Given the description of an element on the screen output the (x, y) to click on. 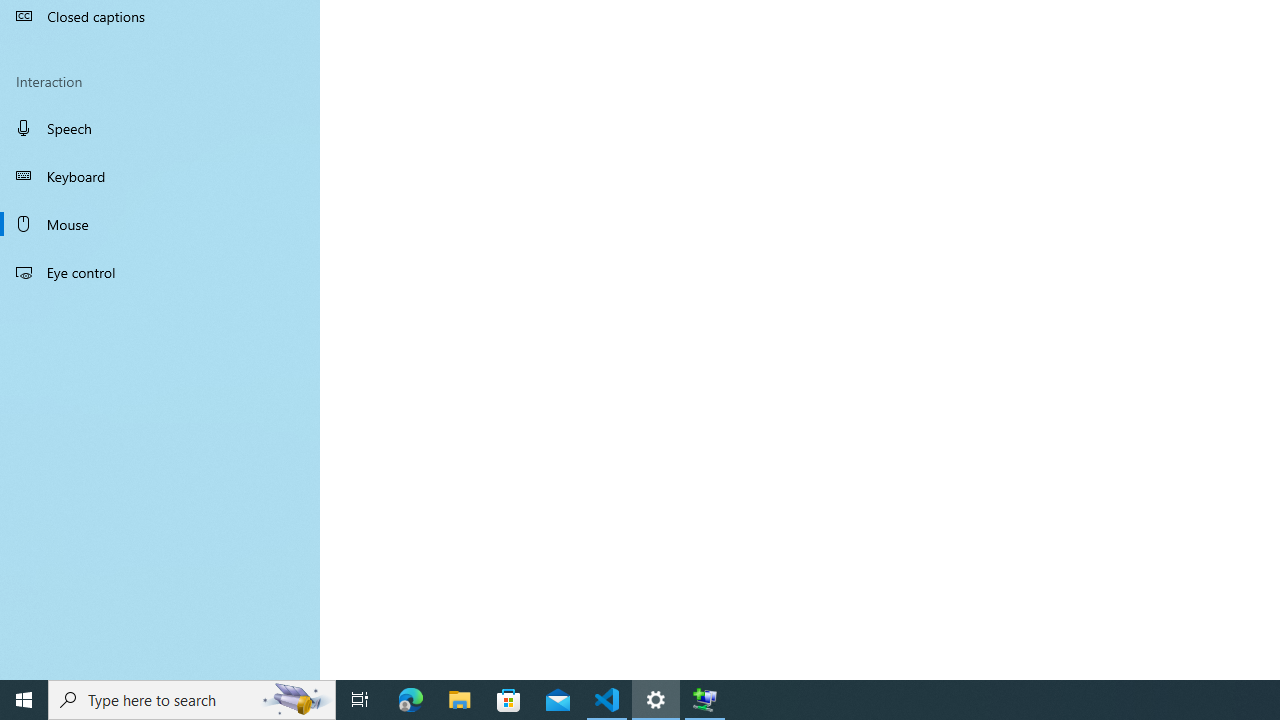
Keyboard (160, 175)
Settings - 1 running window (656, 699)
Speech (160, 127)
Extensible Wizards Host Process - 1 running window (704, 699)
Eye control (160, 271)
Mouse (160, 223)
